Given the description of an element on the screen output the (x, y) to click on. 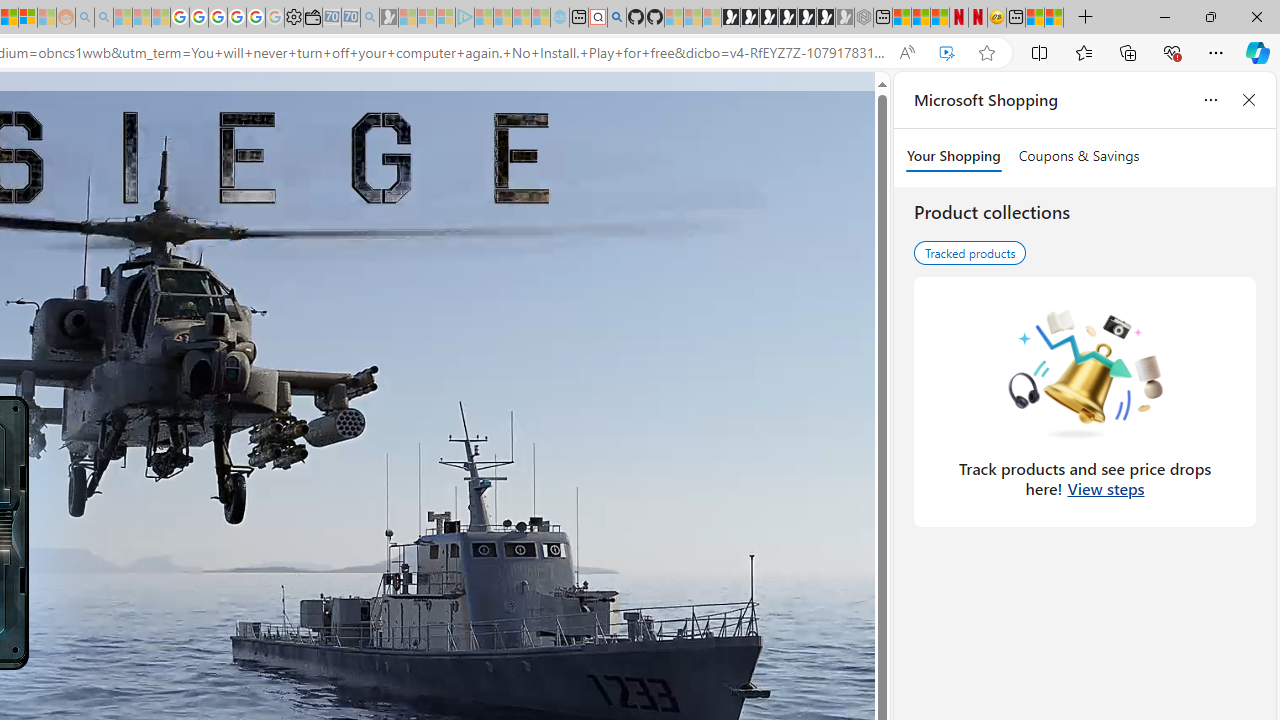
github - Search (616, 17)
Bing Real Estate - Home sales and rental listings - Sleeping (369, 17)
